Given the description of an element on the screen output the (x, y) to click on. 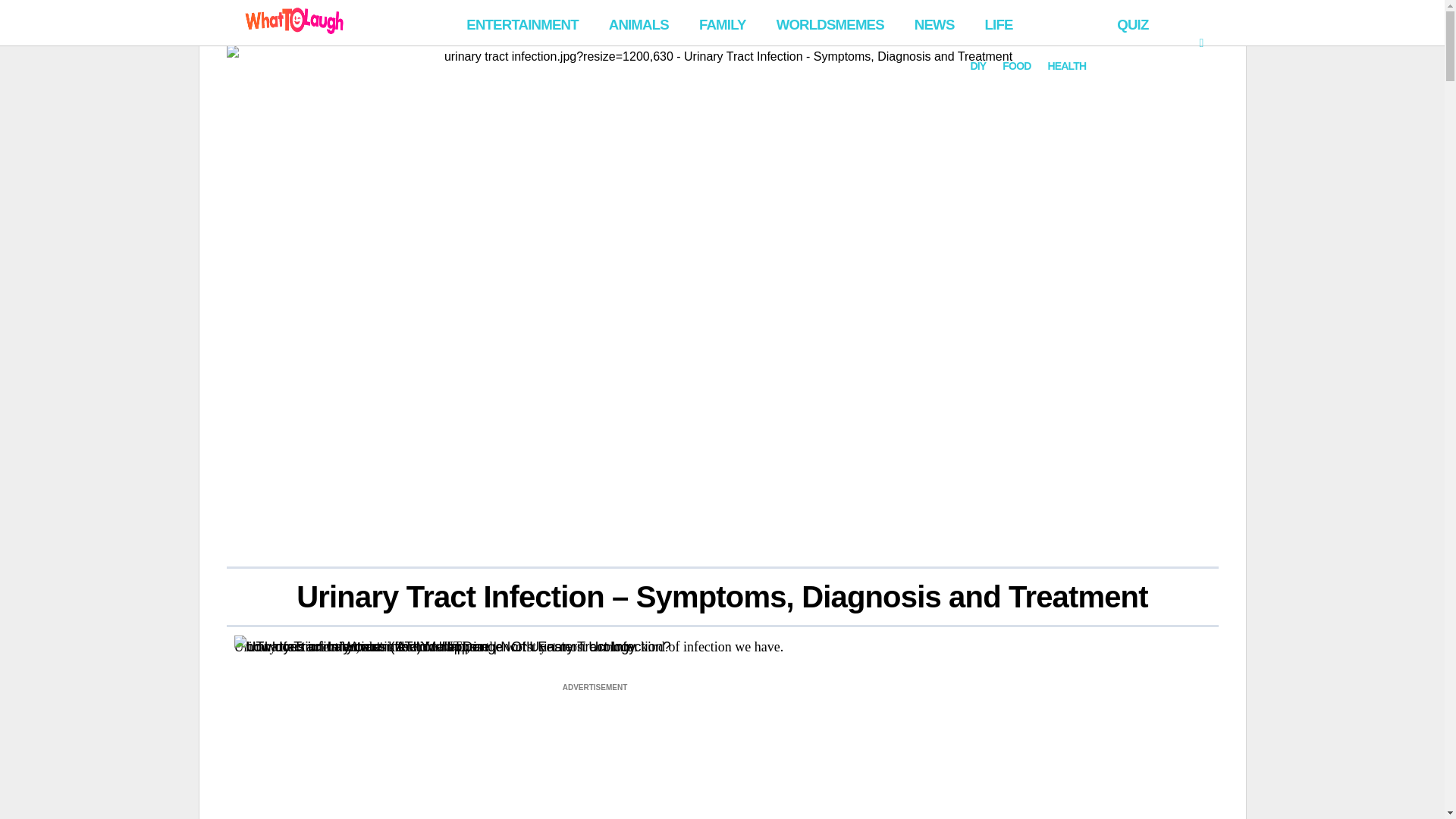
ANIMALS (639, 22)
ENTERTAINMENT (521, 22)
Food (1112, 20)
FAMILY (722, 22)
HEALTH (1066, 65)
NEWS (934, 22)
QUIZ (1132, 22)
WORLDSMEMES (829, 22)
FOOD (1016, 65)
